Given the description of an element on the screen output the (x, y) to click on. 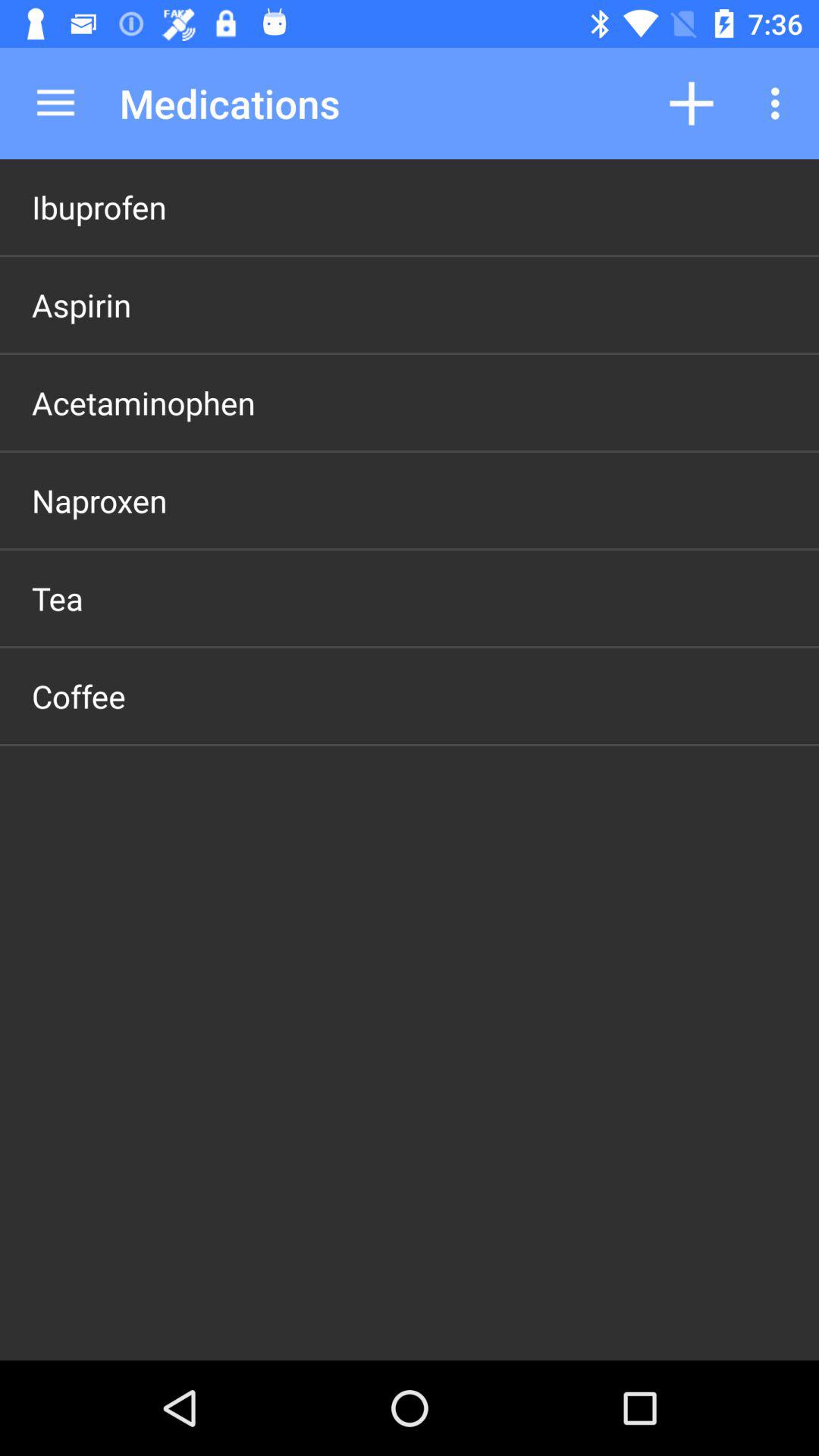
turn off app next to medications (55, 103)
